Given the description of an element on the screen output the (x, y) to click on. 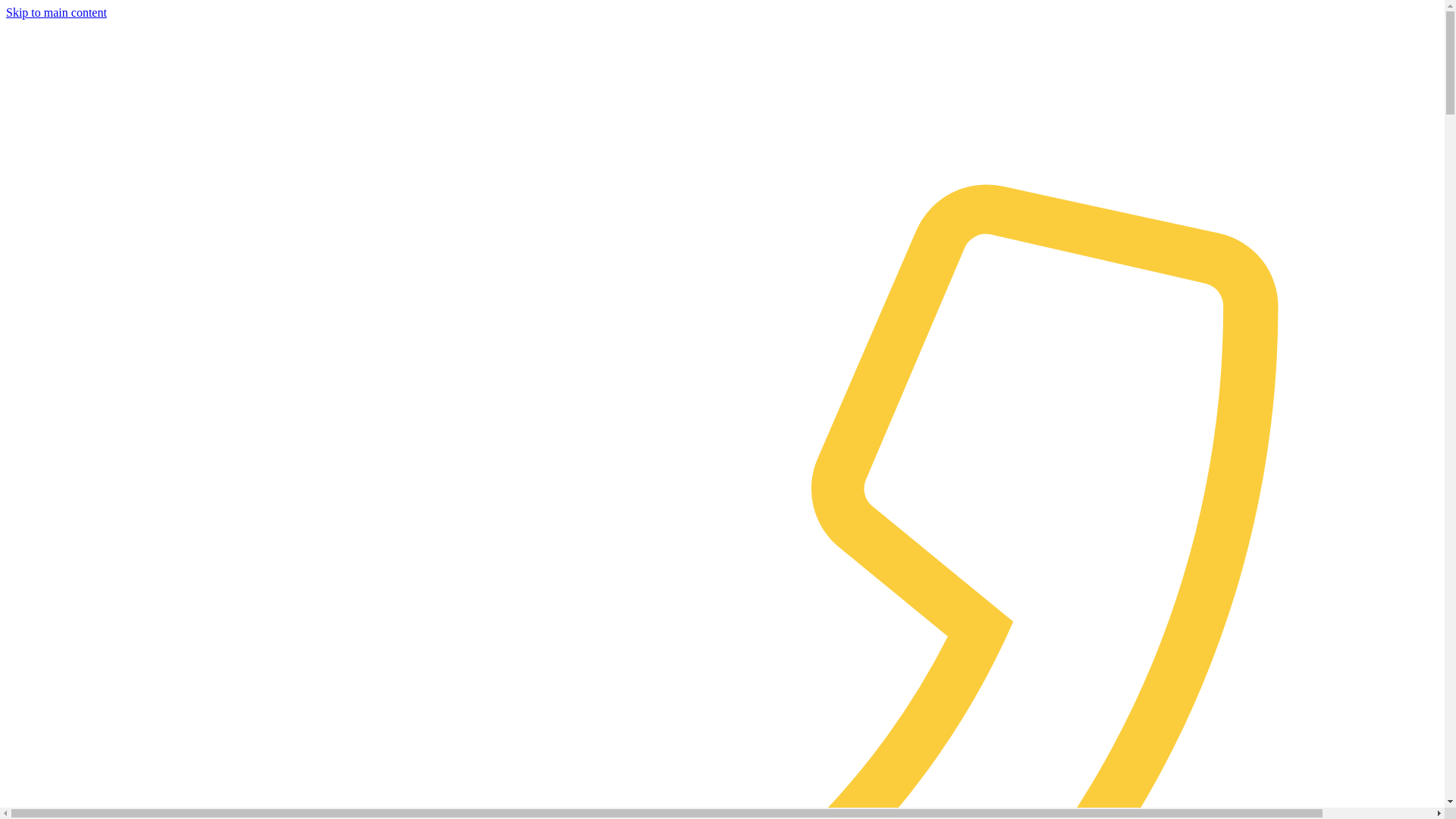
Skip to main content (55, 11)
